Given the description of an element on the screen output the (x, y) to click on. 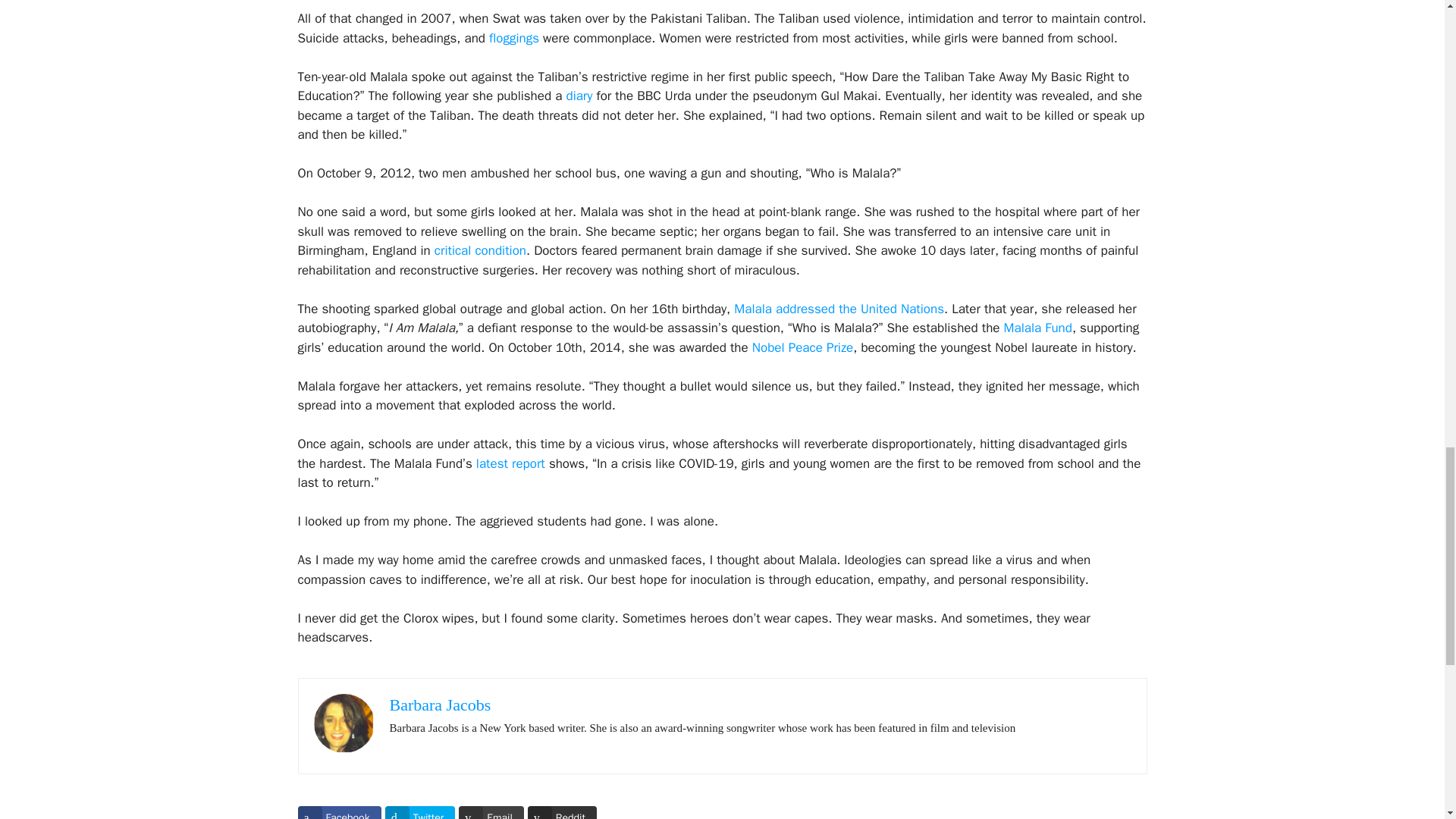
Malala Fund (1035, 327)
Facebook (338, 812)
Share on Twitter (420, 812)
diary (577, 95)
Twitter (420, 812)
Malala addressed the United Nations (836, 308)
Barbara Jacobs (441, 704)
critical condition (477, 250)
floggings (511, 37)
Nobel Peace Prize (800, 347)
